Given the description of an element on the screen output the (x, y) to click on. 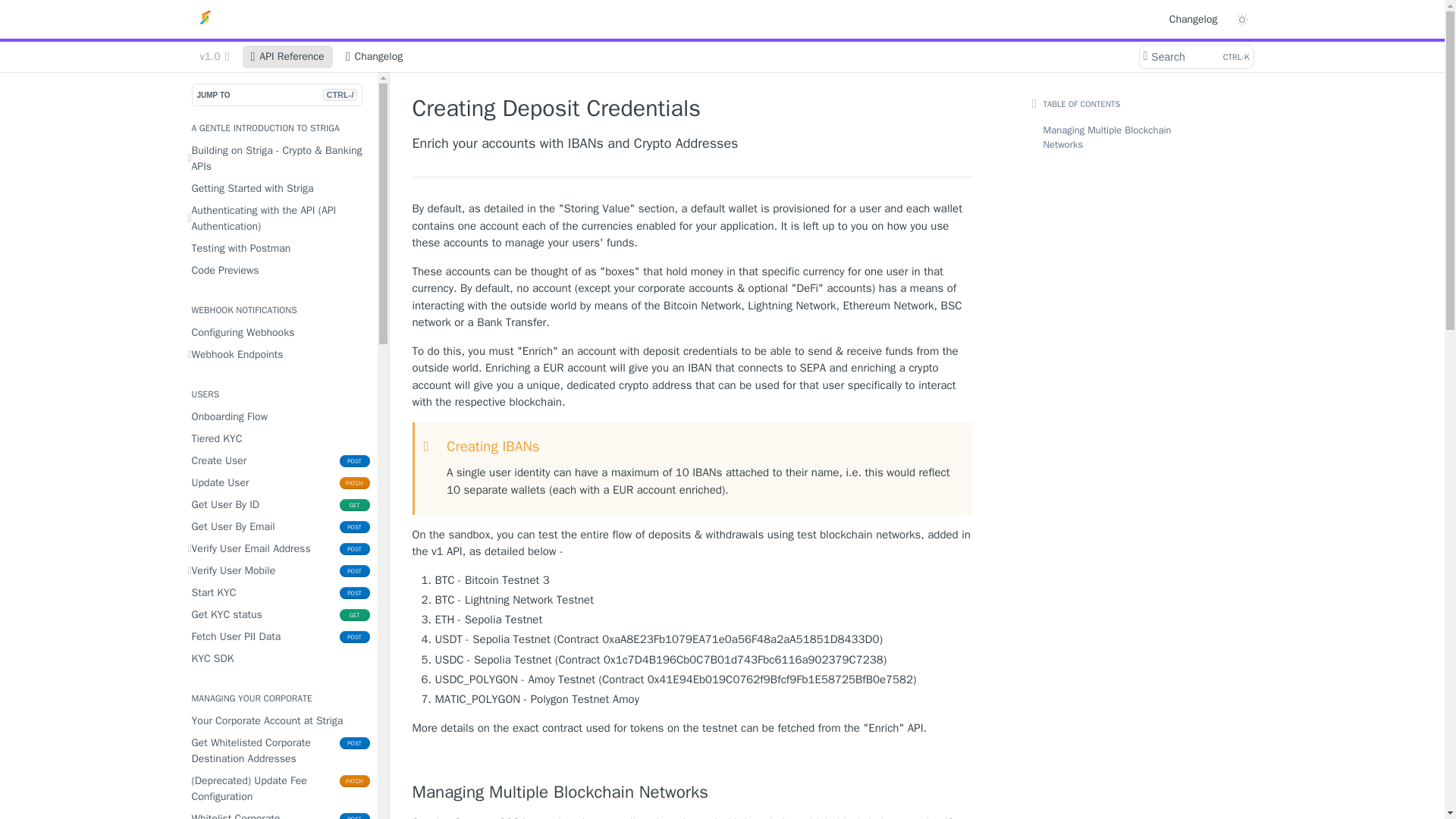
Changelog (374, 56)
Changelog (1192, 18)
API Reference (288, 56)
Getting Started with Striga (277, 188)
Testing with Postman (277, 248)
Configuring Webhooks (1195, 56)
Webhook Endpoints (277, 332)
Code Previews (277, 353)
v1.0 (277, 270)
Managing Multiple Blockchain Networks (213, 56)
